Given the description of an element on the screen output the (x, y) to click on. 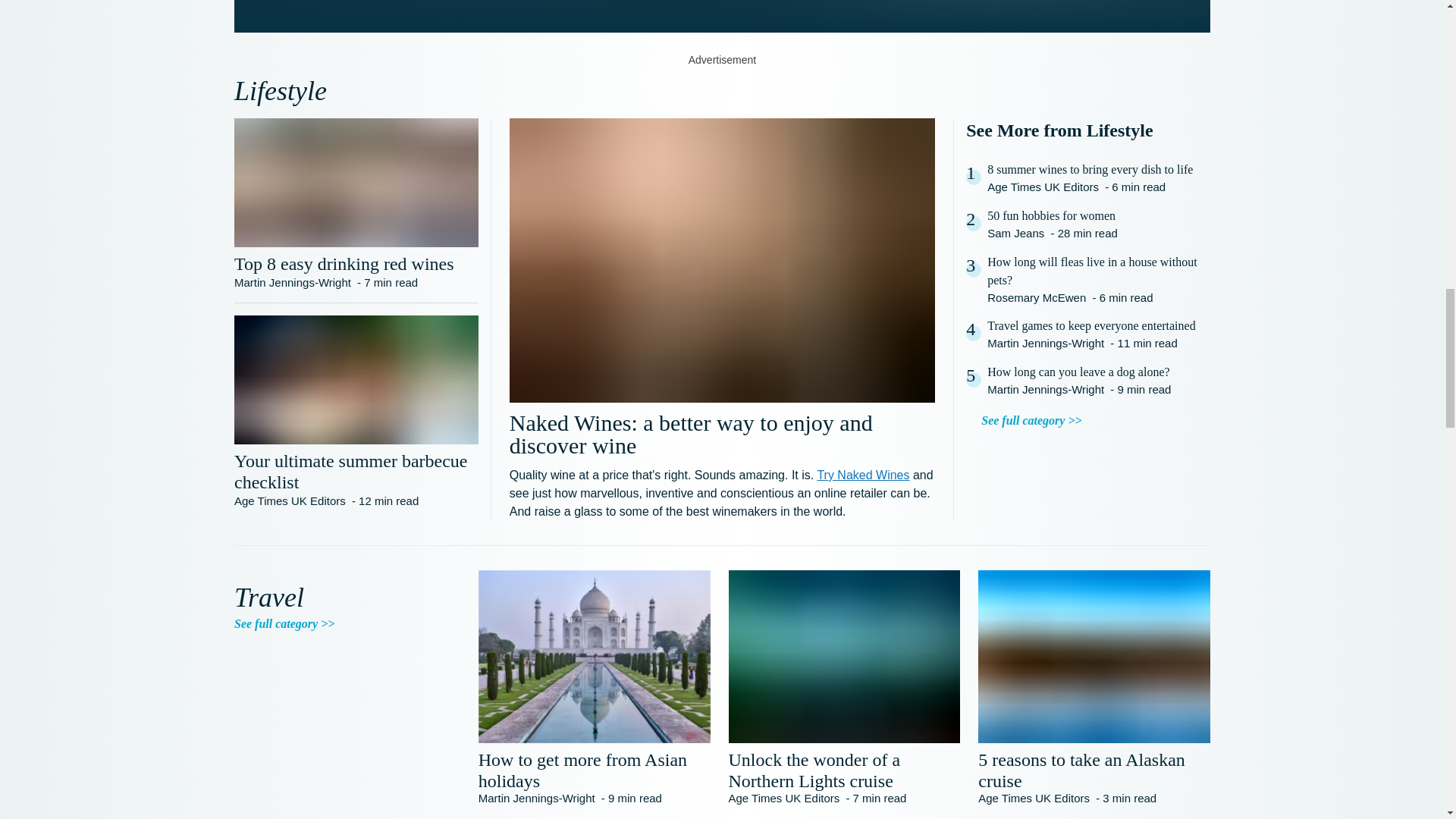
Top 8 easy drinking red wines (356, 263)
How long will fleas live in a house without pets? (1098, 271)
50 fun hobbies for women (1052, 216)
Travel games to keep everyone entertained (1091, 325)
8 summer wines to bring every dish to life (1089, 169)
Your ultimate summer barbecue checklist (356, 471)
